Given the description of an element on the screen output the (x, y) to click on. 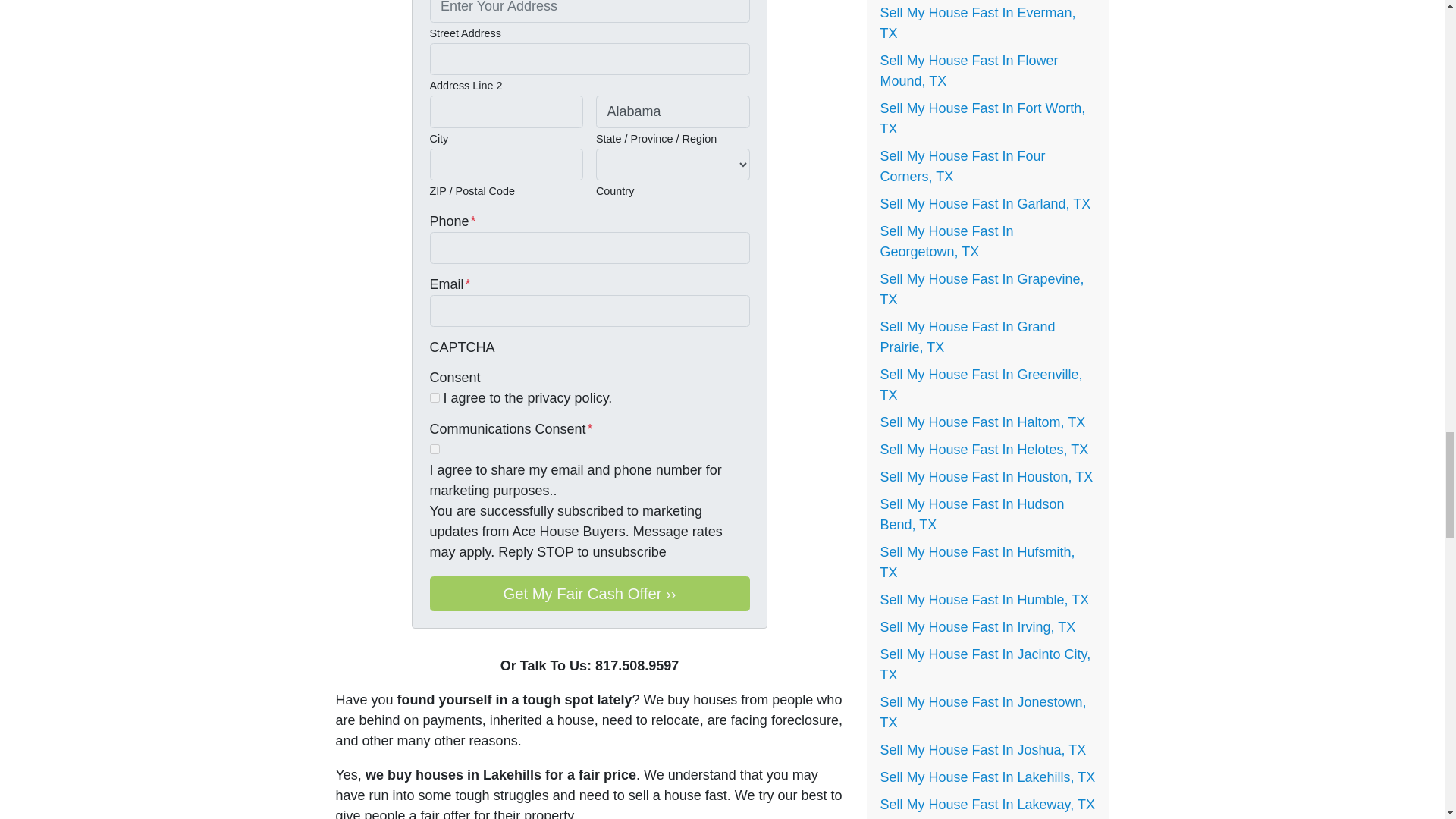
Alabama (672, 111)
